Given the description of an element on the screen output the (x, y) to click on. 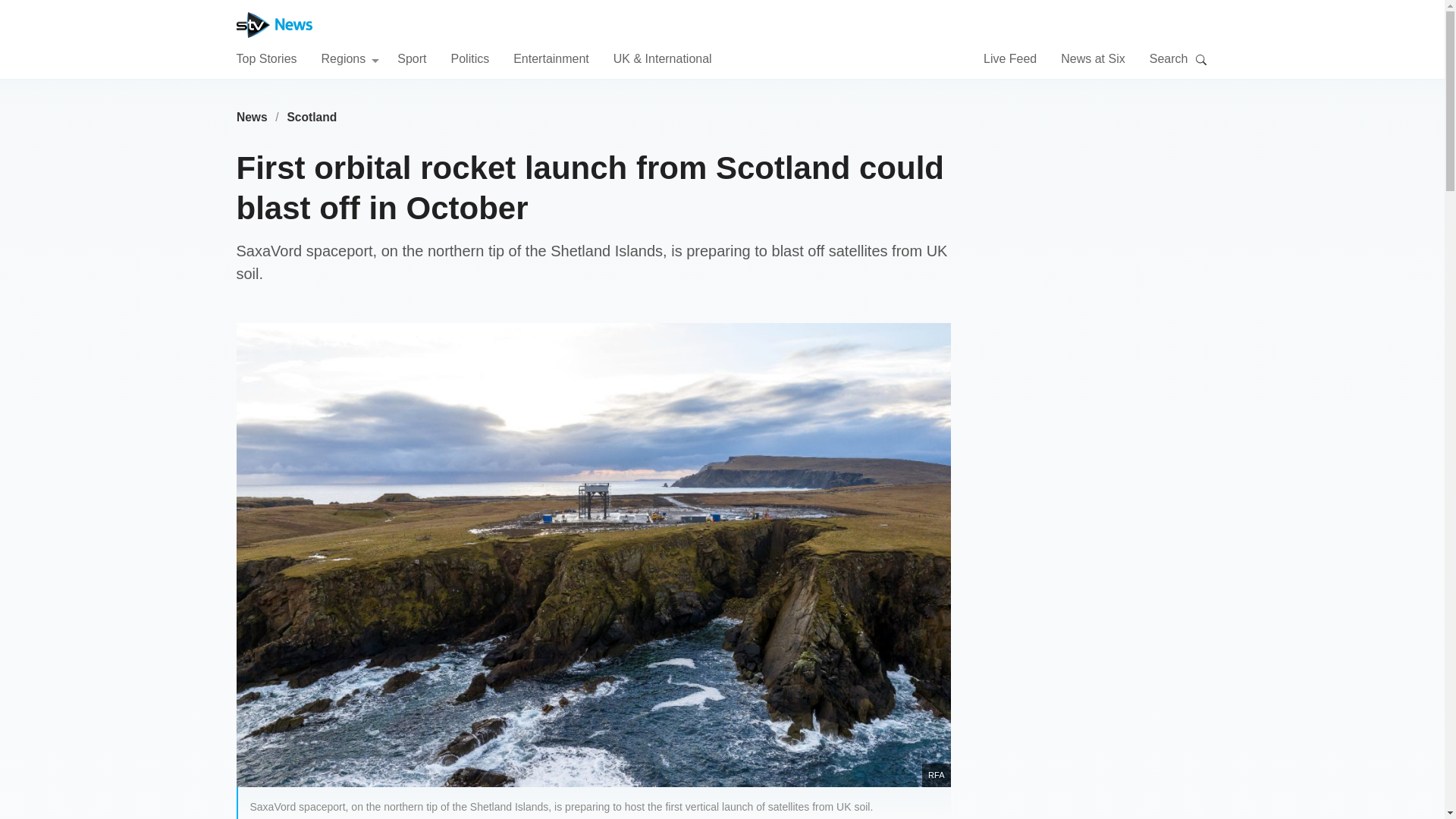
Scotland (312, 116)
Search (1201, 59)
Top Stories (266, 57)
News at Six (1092, 57)
Entertainment (551, 57)
Regions (350, 57)
Politics (469, 57)
News (252, 116)
Live Feed (1010, 57)
